Given the description of an element on the screen output the (x, y) to click on. 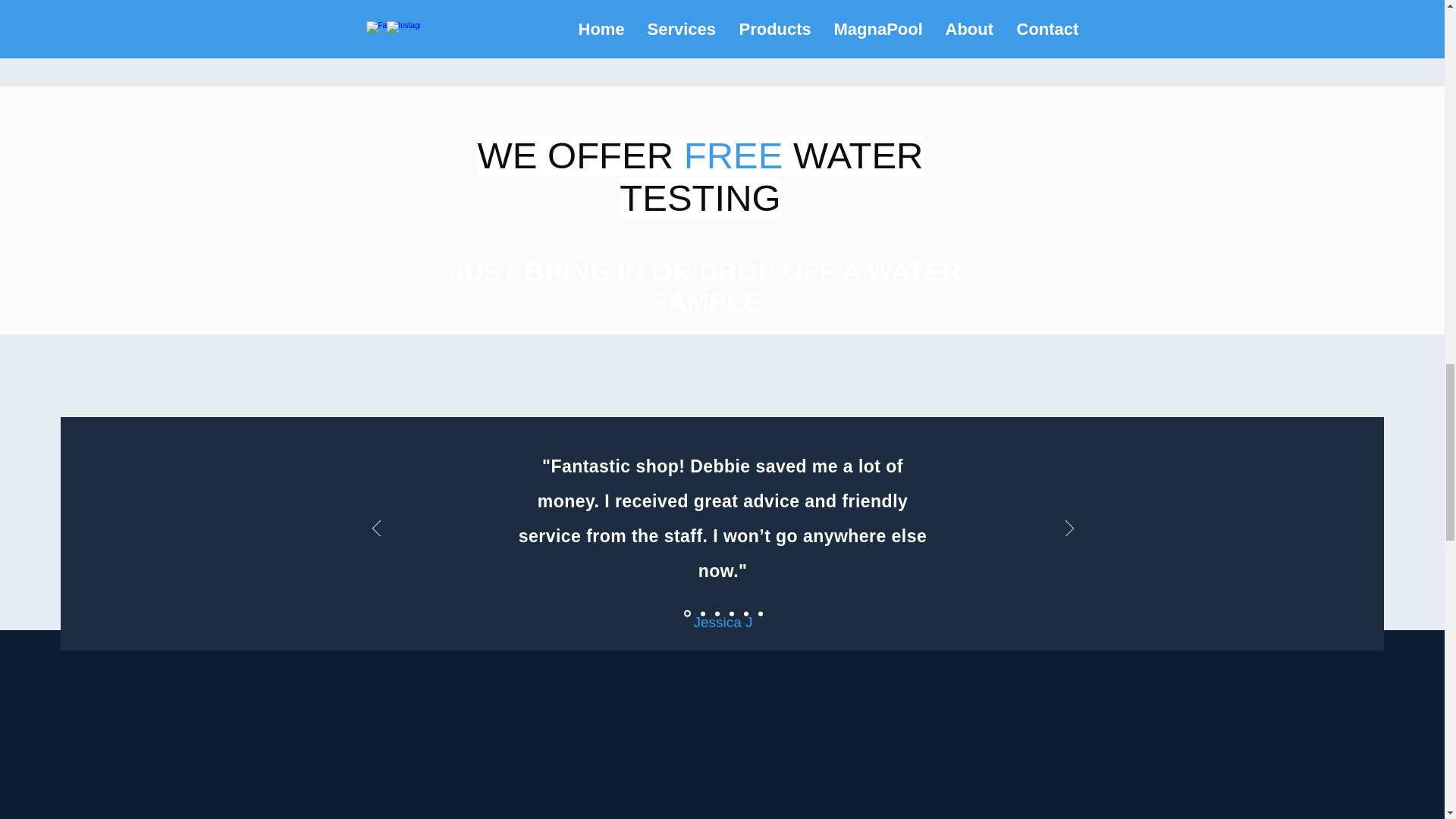
CALL FOR PRICING (723, 3)
